Given the description of an element on the screen output the (x, y) to click on. 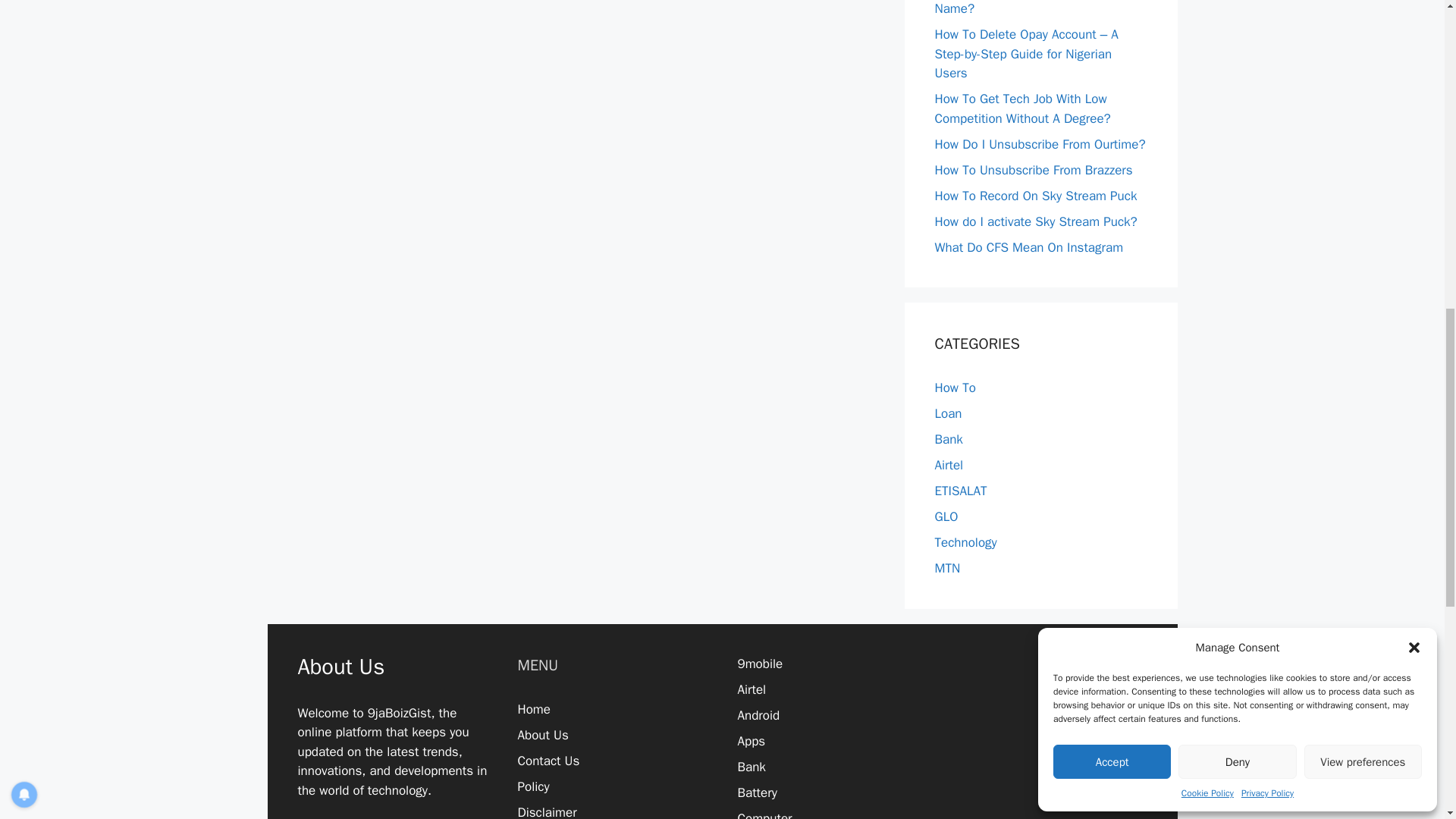
Scroll back to top (1406, 720)
